Given the description of an element on the screen output the (x, y) to click on. 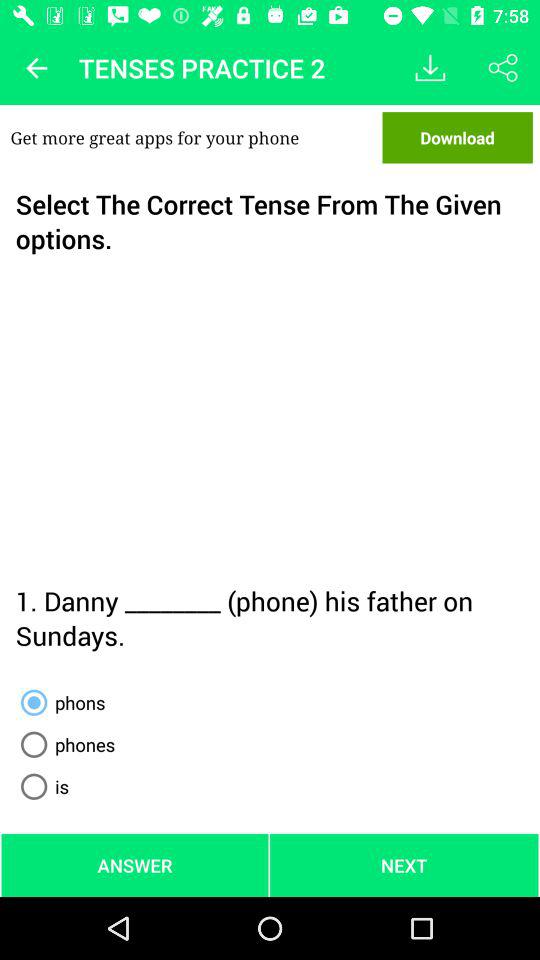
tap the item above the is radio button (64, 744)
